Given the description of an element on the screen output the (x, y) to click on. 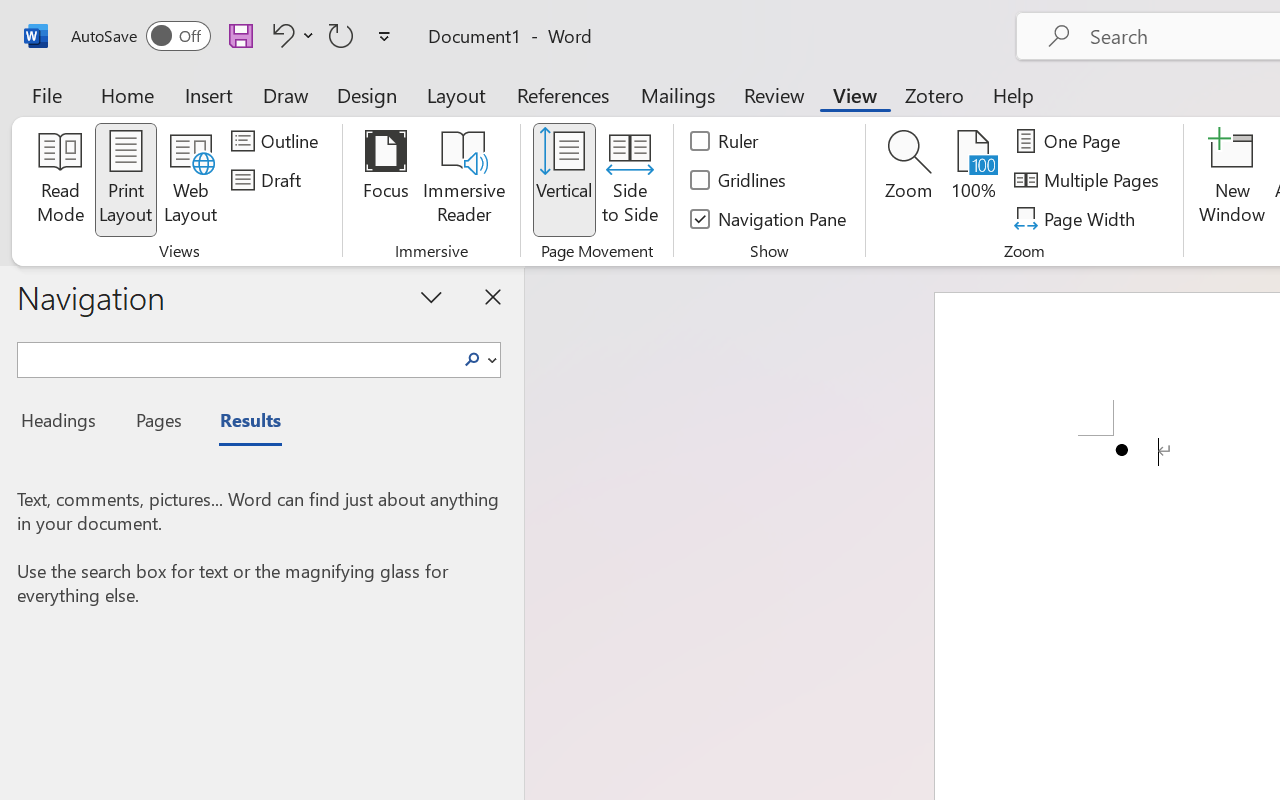
Undo Bullet Default (280, 35)
Page Width (1078, 218)
Multiple Pages (1090, 179)
